Given the description of an element on the screen output the (x, y) to click on. 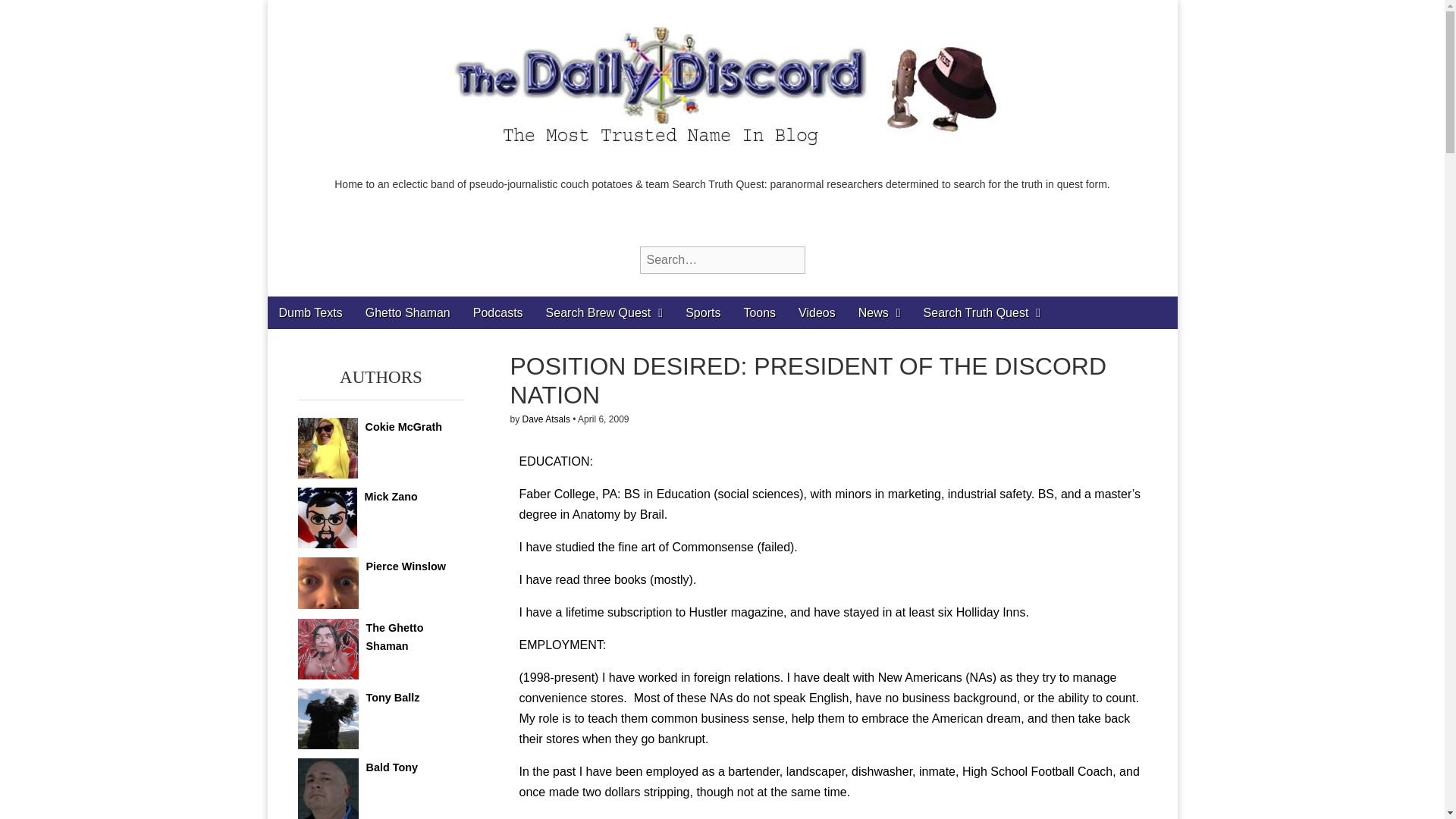
Toons (759, 312)
Cokie McGrath (403, 426)
Mick Zano (390, 496)
Posts by Dave Atsals (546, 419)
Skip to content (306, 306)
Podcasts (497, 312)
Videos (817, 312)
Pierce Winslow (405, 566)
The Daily Discord (321, 228)
Search Truth Quest (982, 312)
